Given the description of an element on the screen output the (x, y) to click on. 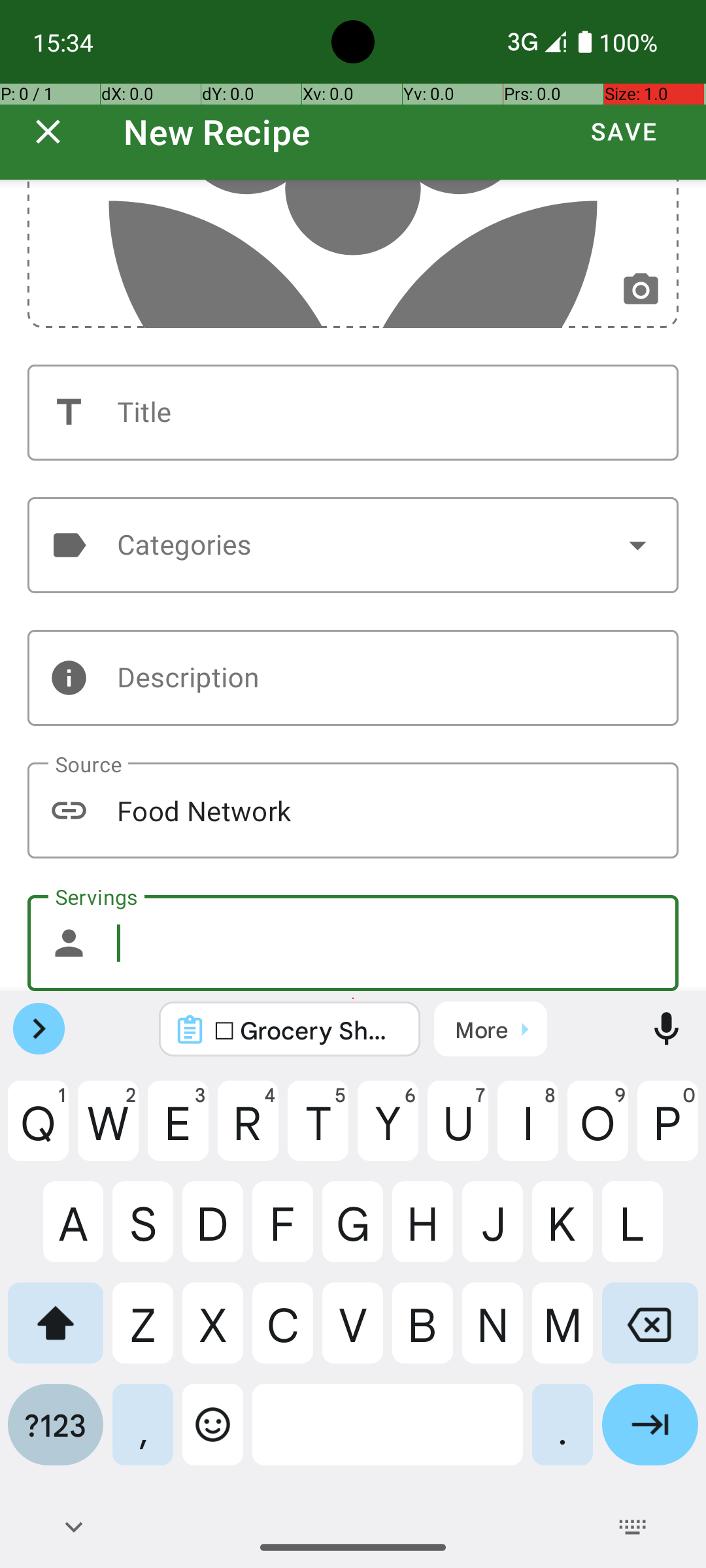
Change photo Element type: android.widget.ImageView (640, 289)
Title Element type: android.widget.EditText (352, 412)
Description Element type: android.widget.EditText (352, 677)
Food Network Element type: android.widget.EditText (352, 810)
☐ Grocery Shopping ☐ Call Grandma ☐ Attend Team Meeting ☐ Take Dog to the Vet ☐ Finish Project Proposal ☐ Water Plants ☐ Reply to Emails ☐ Change Air Filter ☐ Submit Expense Report ☐ Submit Budget Report ☑ Read 'The Martian' ☑ Grocery Shopping ☑ Submit Expense Report ☑ Brainstorm Blog Post Ideas ☑ Change Air Filter ☑ Research Vacation Destinations ☑ Finish Project Proposal ☑ Change Air Filter ☑ Take Dog to the Vet ☑ Submit Expense Report ☑ Learn to Play Guitar Element type: android.widget.TextView (306, 1029)
